Given the description of an element on the screen output the (x, y) to click on. 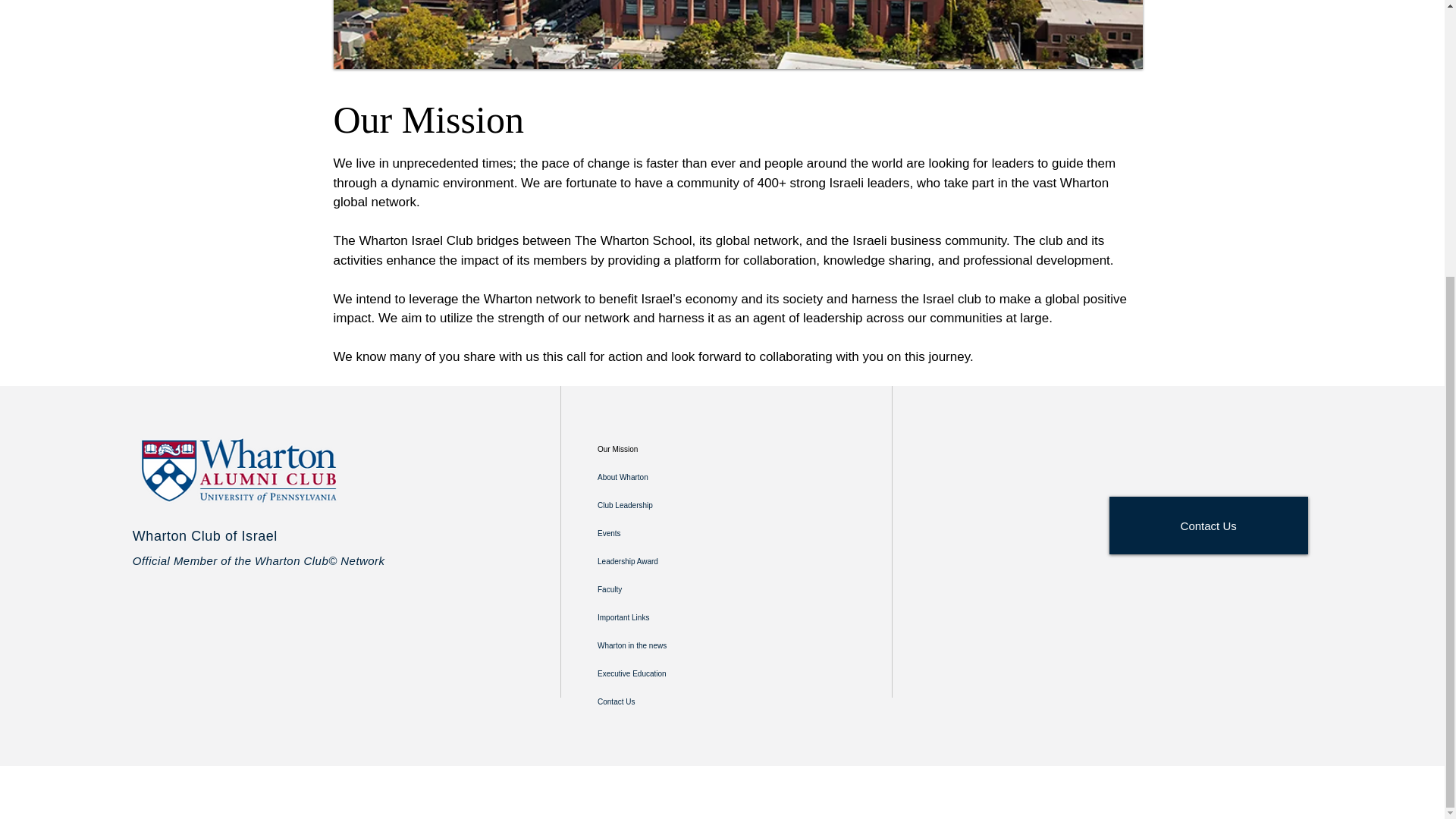
Leadership Award (669, 561)
Club Leadership (669, 505)
Executive Education (669, 673)
Events (669, 533)
Contact Us (669, 701)
Our Mission (669, 448)
Wharton in the news (669, 645)
About Wharton (669, 477)
Important Links (669, 617)
Faculty (669, 589)
Contact Us (1208, 525)
